Given the description of an element on the screen output the (x, y) to click on. 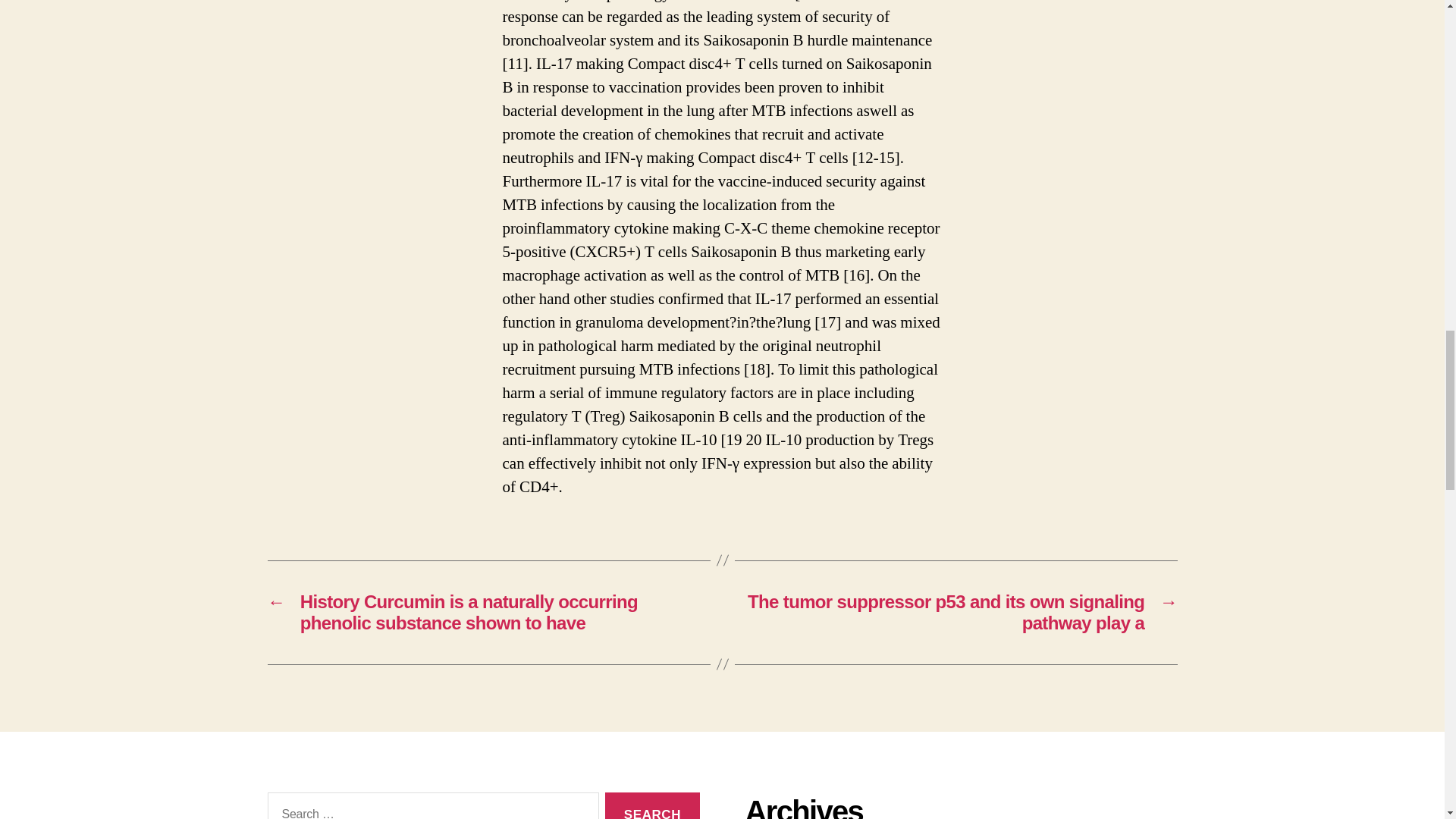
Search (651, 805)
Search (651, 805)
Search (651, 805)
